Given the description of an element on the screen output the (x, y) to click on. 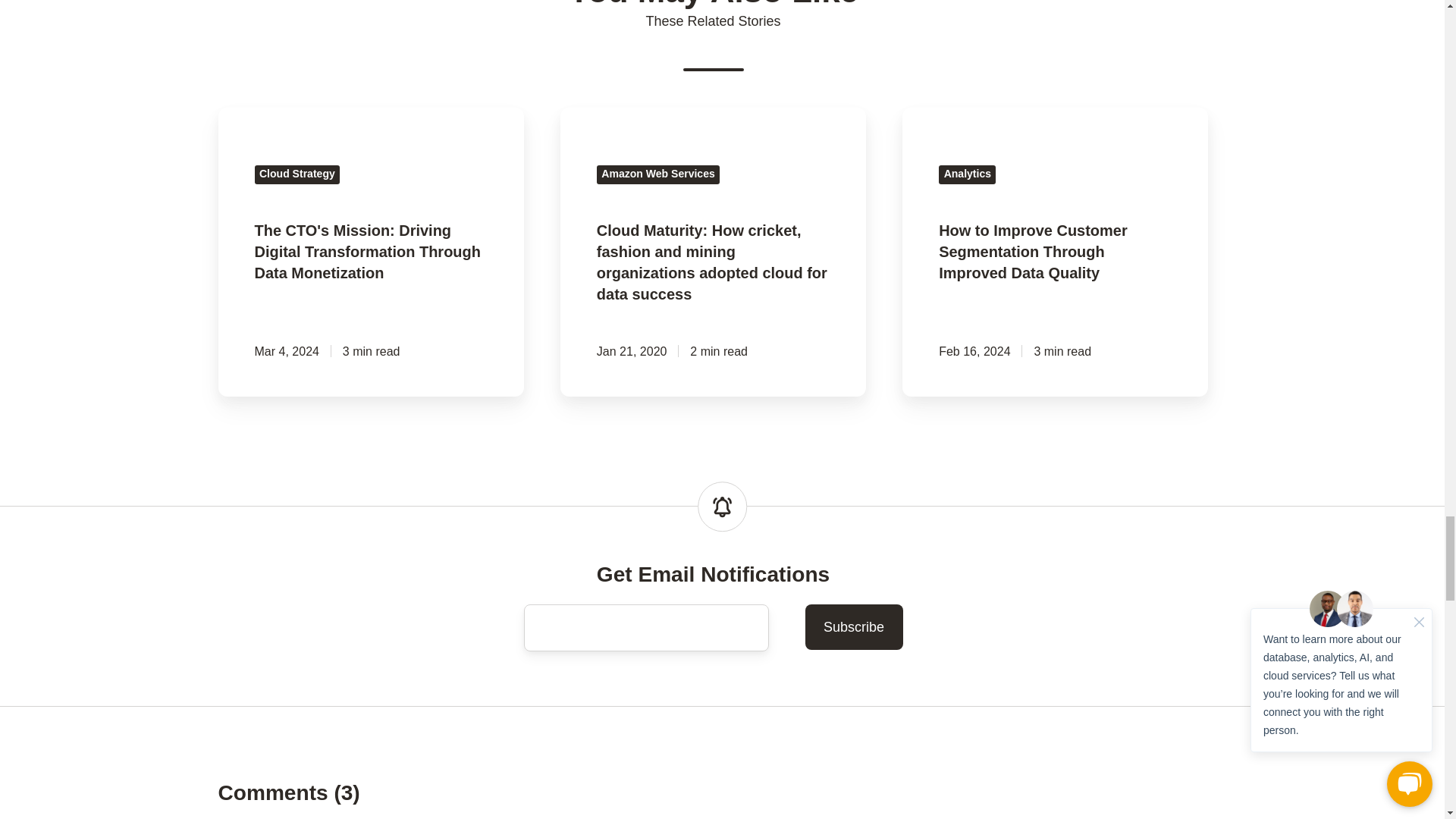
Subscribe (853, 627)
